Given the description of an element on the screen output the (x, y) to click on. 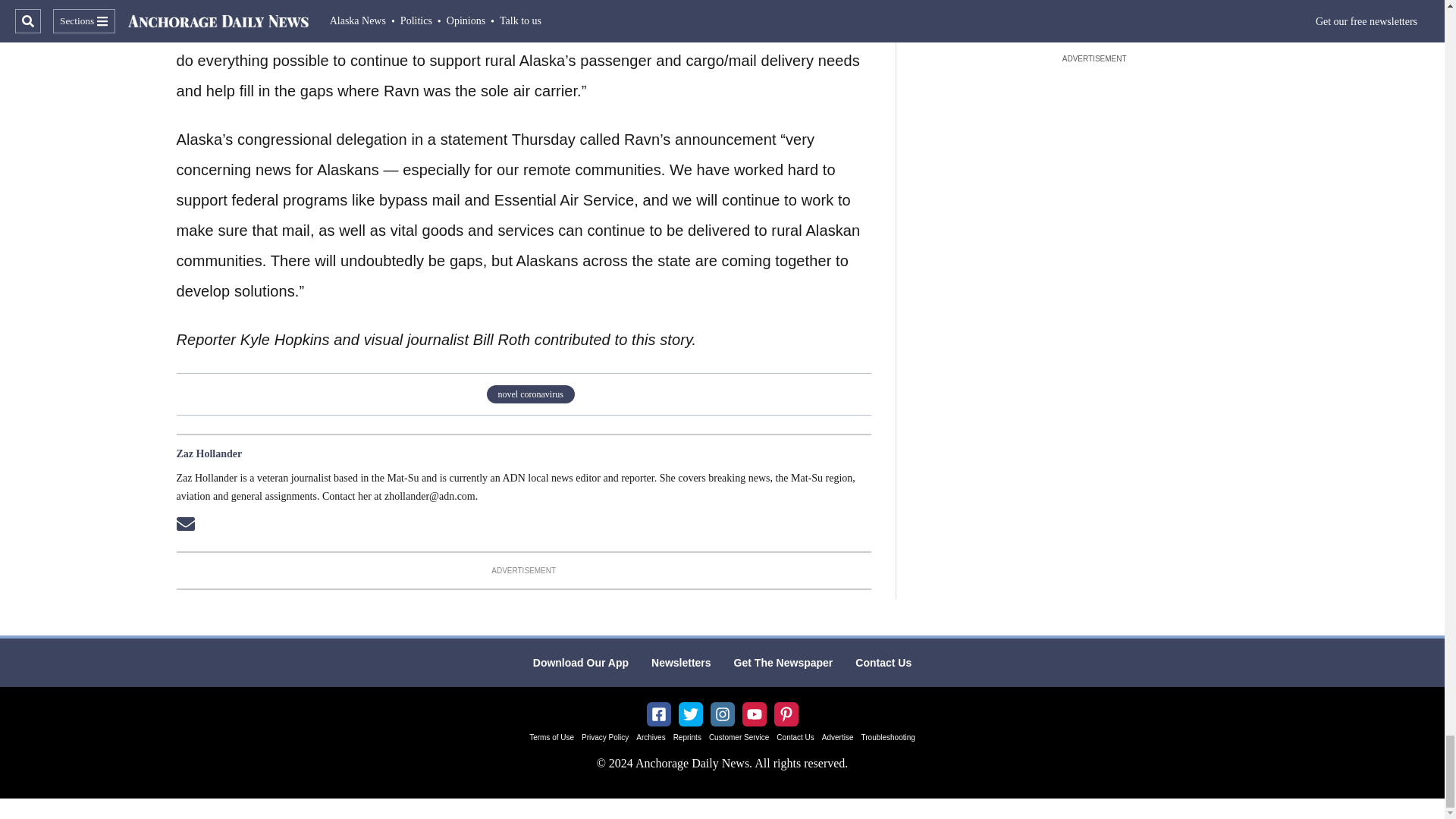
Instagram IconAnchorage Daily News instagram account (721, 713)
YouTube iconAnchorage Daily News YouTube channel (753, 713)
Twitter IconTwitter Account for Anchorage Daily News (689, 713)
Facebook IconAnchorage Daily News Facebook Page (657, 713)
PinterestAnchorage Daily News Pinterest Account (785, 713)
